Given the description of an element on the screen output the (x, y) to click on. 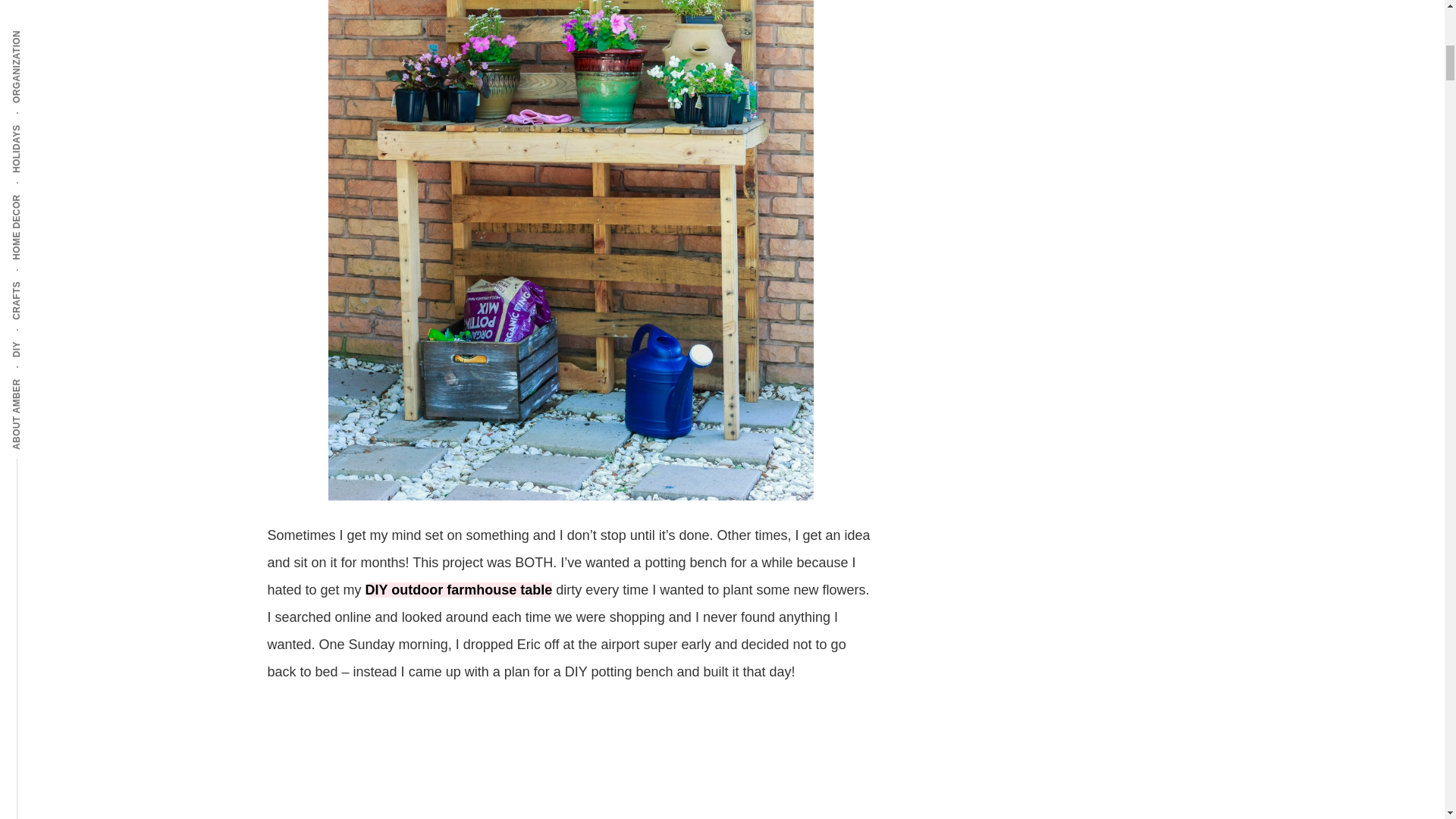
DIY outdoor farmhouse table (459, 589)
